Given the description of an element on the screen output the (x, y) to click on. 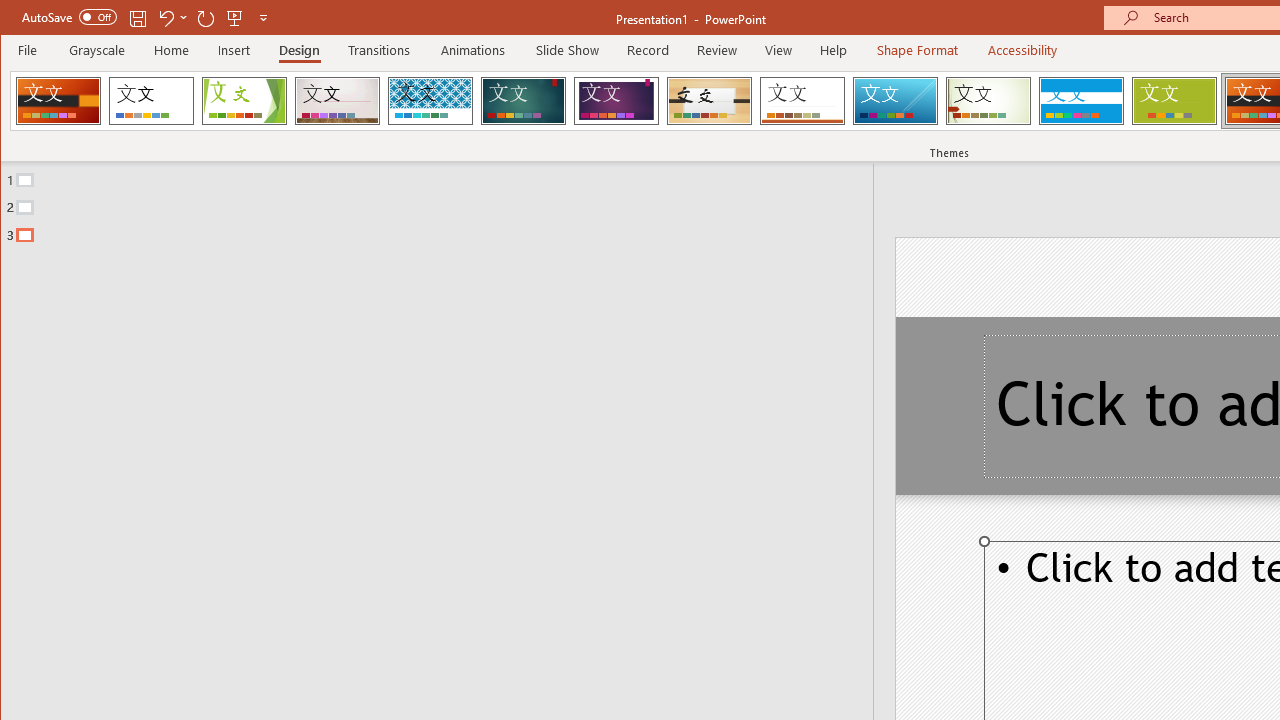
Wisp (988, 100)
Integral (430, 100)
Ion Boardroom (616, 100)
Office Theme (151, 100)
Outline (445, 203)
Organic (709, 100)
